Given the description of an element on the screen output the (x, y) to click on. 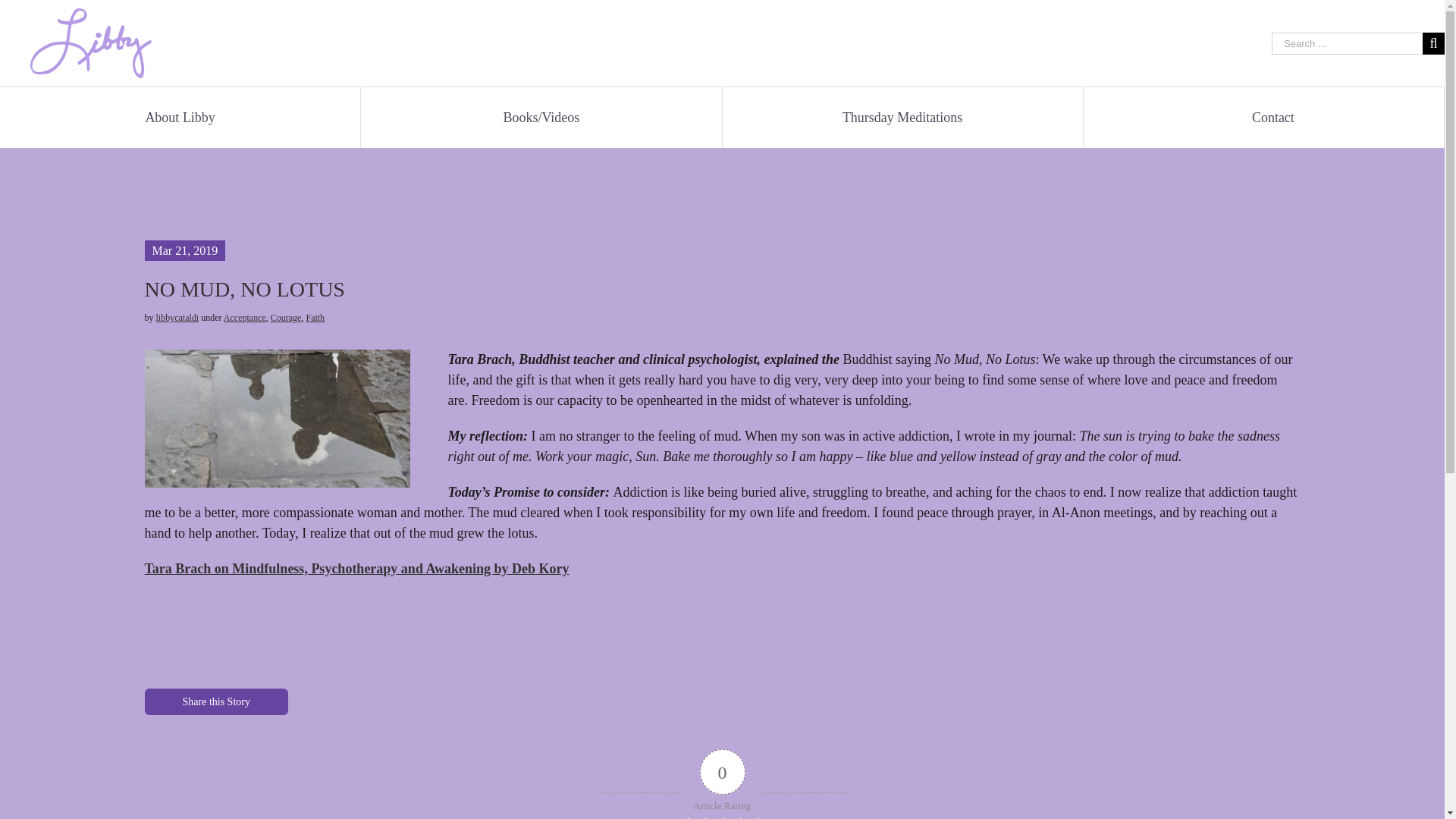
Contact (1273, 117)
libbycataldi (177, 317)
Thursday Meditations (902, 117)
Acceptance (245, 317)
Courage (285, 317)
Faith (314, 317)
About Libby (179, 117)
